Given the description of an element on the screen output the (x, y) to click on. 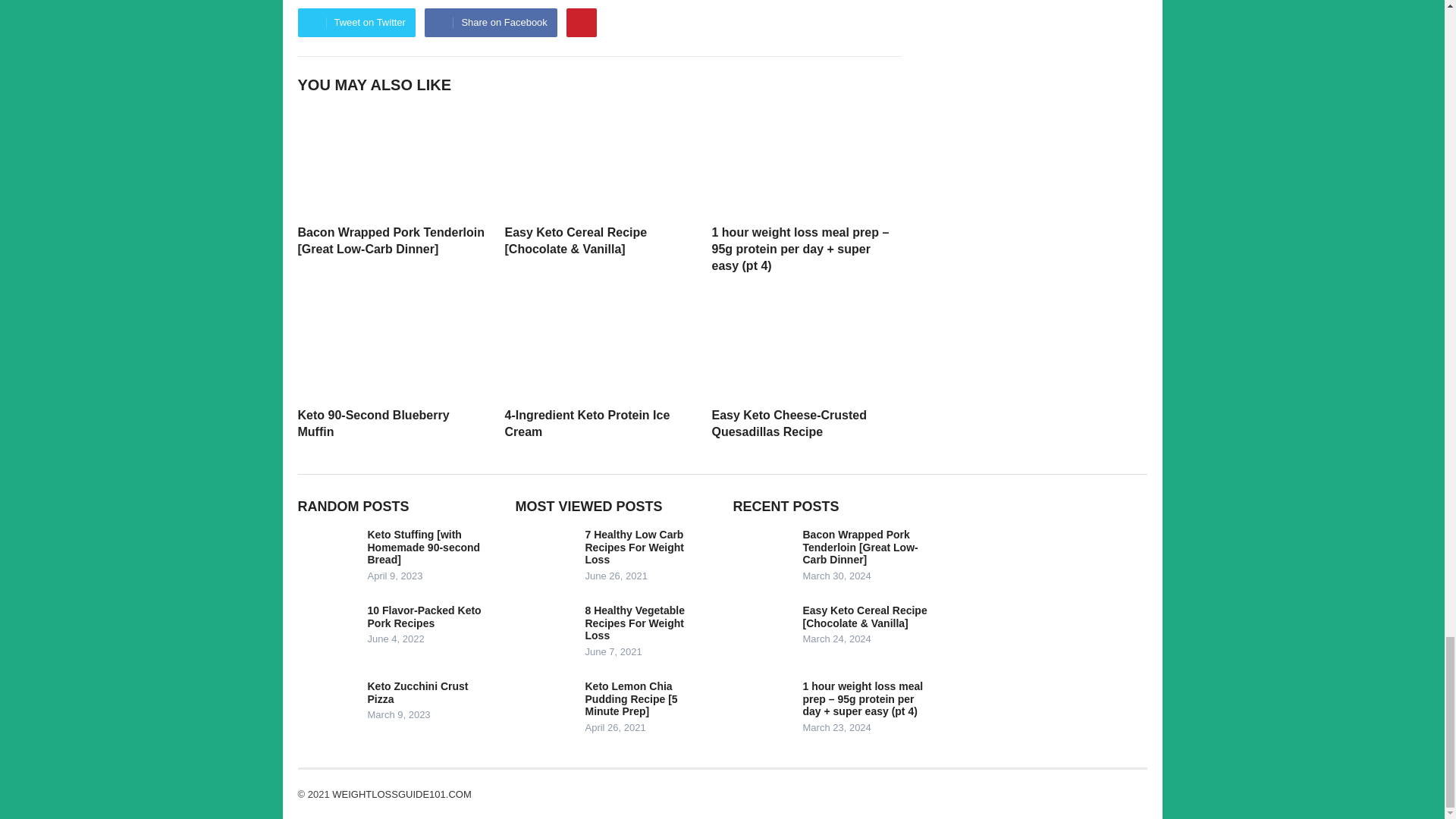
Easy Keto Cheese-Crusted Quesadillas Recipe 12 (805, 345)
4-Ingredient Keto Protein Ice Cream 10 (599, 345)
Keto 90-Second Blueberry Muffin 8 (391, 345)
